Given the description of an element on the screen output the (x, y) to click on. 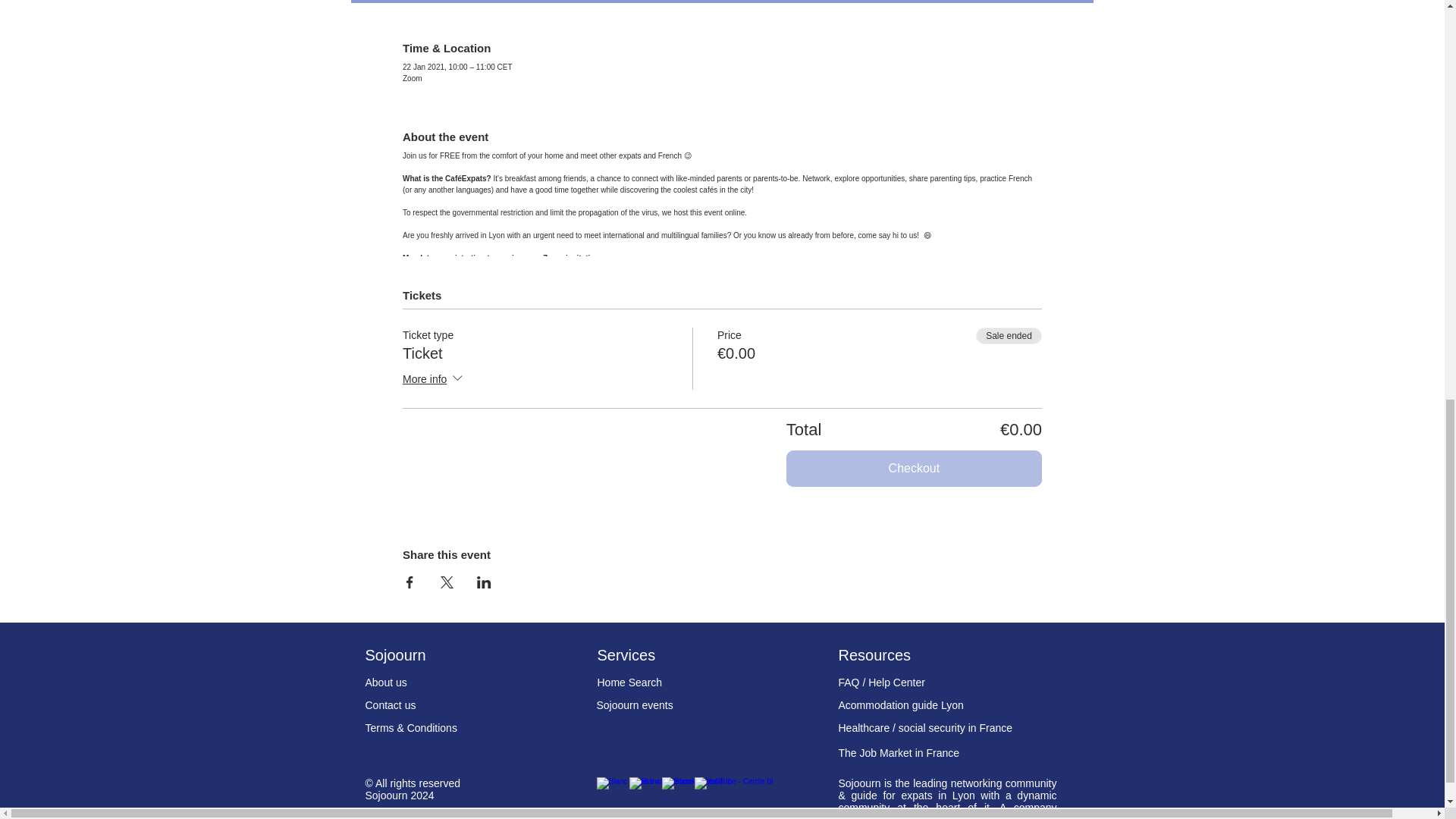
Home Search (629, 682)
More info (434, 379)
Checkout (914, 468)
About us (386, 682)
